Given the description of an element on the screen output the (x, y) to click on. 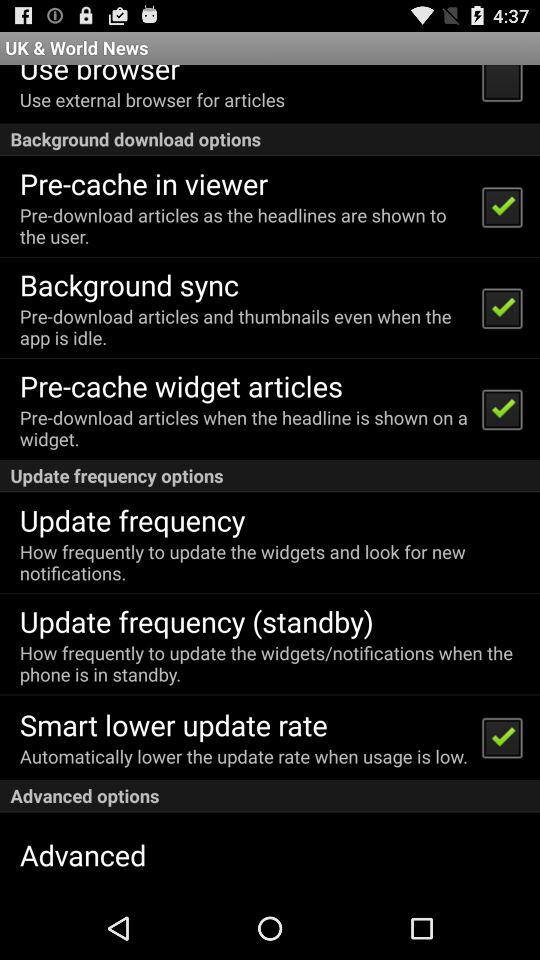
scroll until automatically lower the item (243, 755)
